Given the description of an element on the screen output the (x, y) to click on. 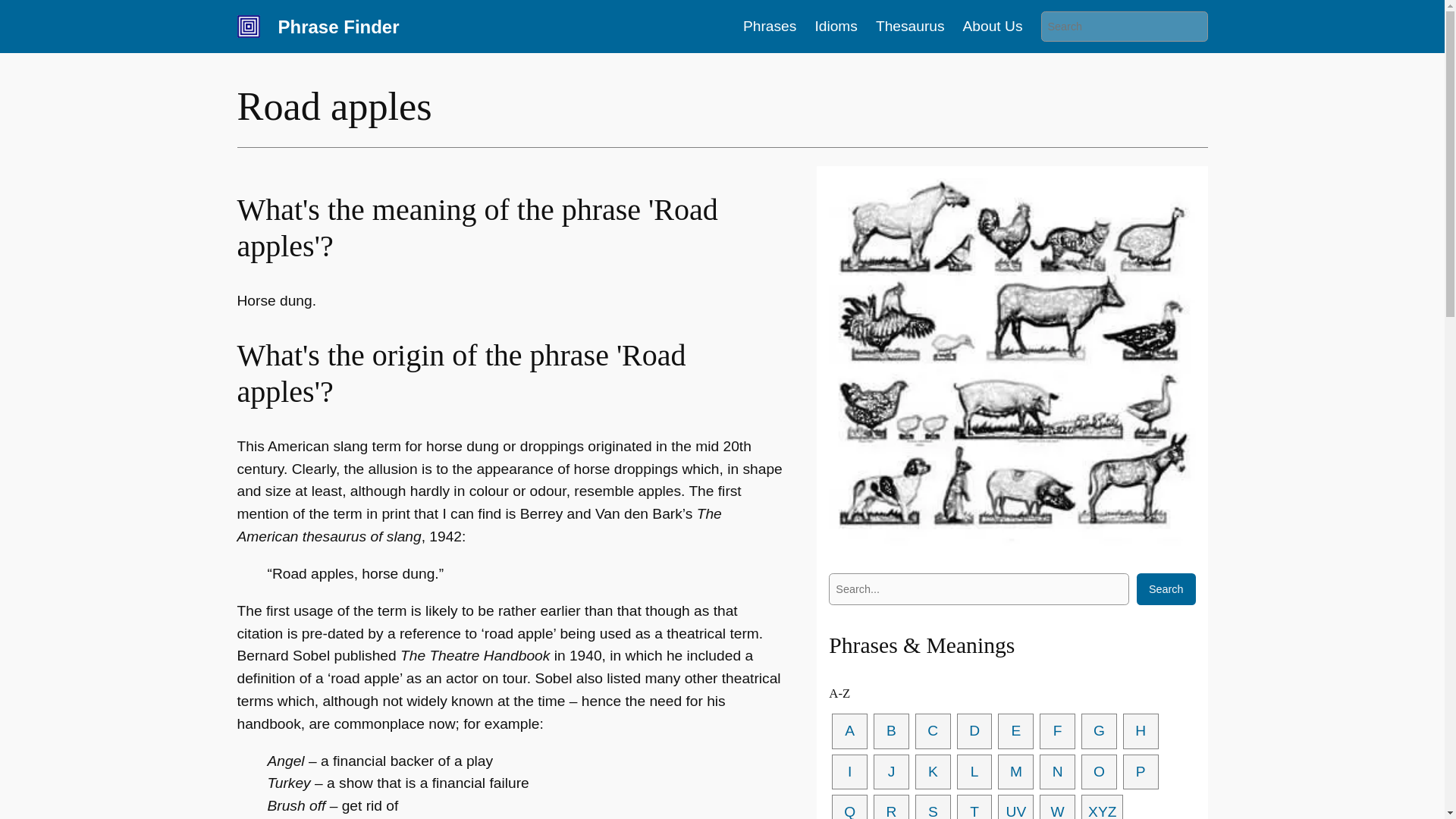
J (890, 772)
Phrase Finder (338, 26)
I (849, 772)
W (1057, 806)
O (1098, 772)
UV (1015, 806)
F (1057, 731)
Phrases (769, 26)
Thesaurus (910, 26)
R (890, 806)
